Given the description of an element on the screen output the (x, y) to click on. 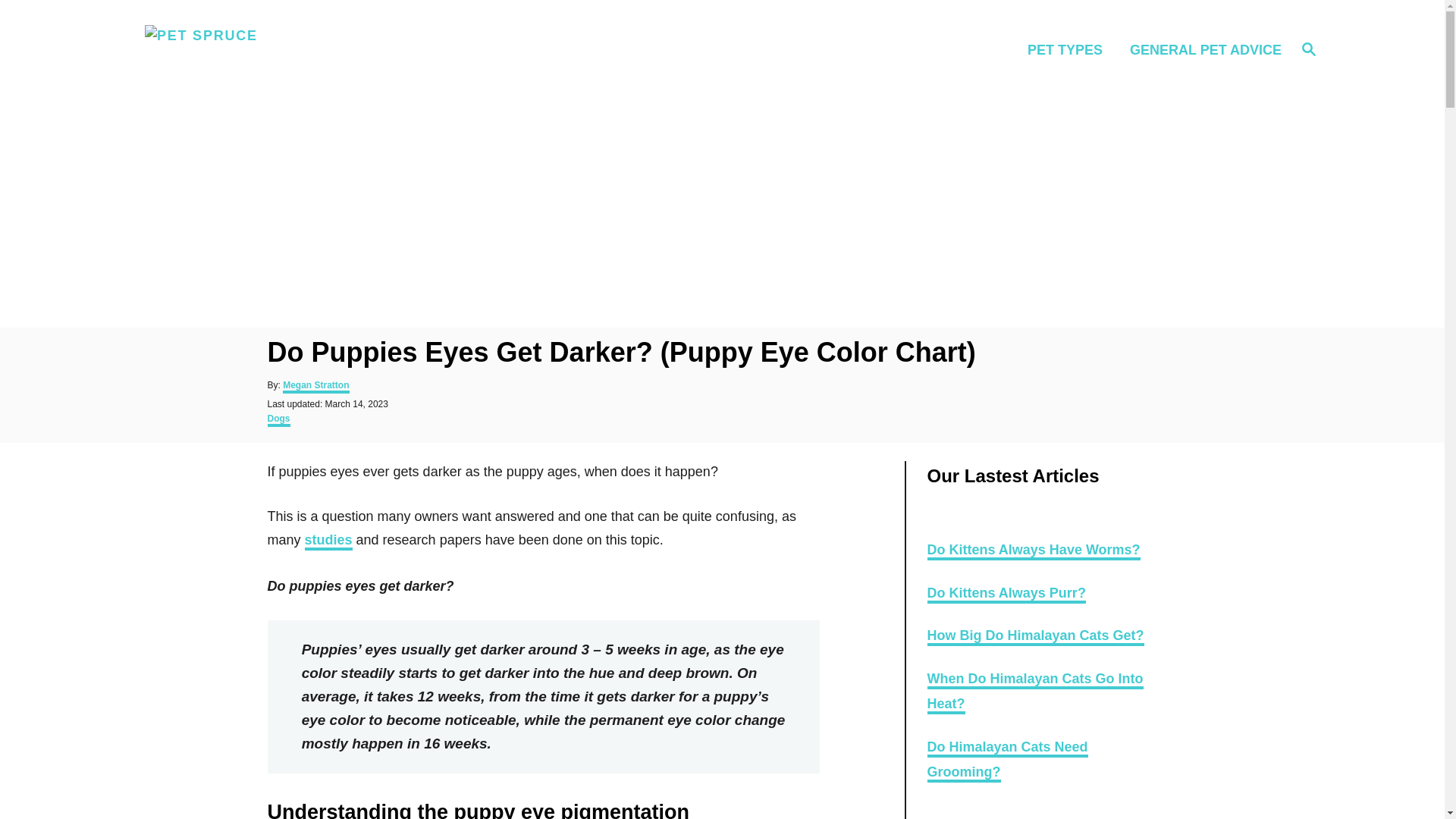
Do Himalayan Cats Need Grooming? (1006, 760)
Pet Spruce (285, 50)
GENERAL PET ADVICE (1201, 49)
Magnifying Glass (1308, 48)
Dogs (277, 419)
When Do Himalayan Cats Go Into Heat? (1034, 692)
Megan Stratton (315, 386)
studies (1308, 49)
PET TYPES (328, 541)
How Big Do Himalayan Cats Get? (1069, 49)
Do Kittens Always Have Worms? (1034, 637)
Do Kittens Always Purr? (1033, 551)
